Given the description of an element on the screen output the (x, y) to click on. 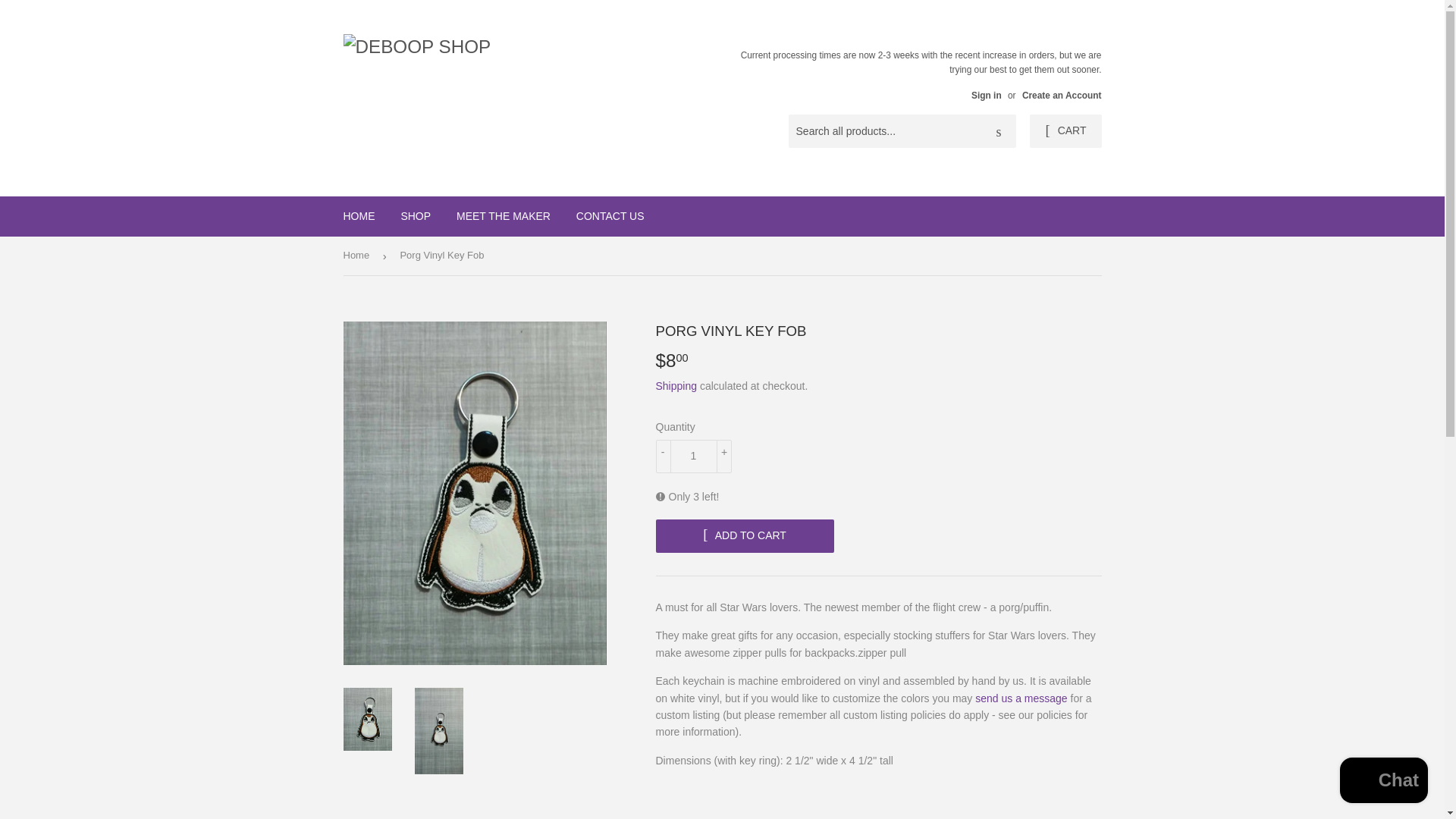
HOME (359, 215)
1 (692, 456)
Search (998, 132)
CONTACT US (610, 215)
CART (1064, 131)
Sign in (986, 95)
Shipping (676, 386)
ADD TO CART (743, 535)
SHOP (415, 215)
Shopify online store chat (1383, 781)
